Given the description of an element on the screen output the (x, y) to click on. 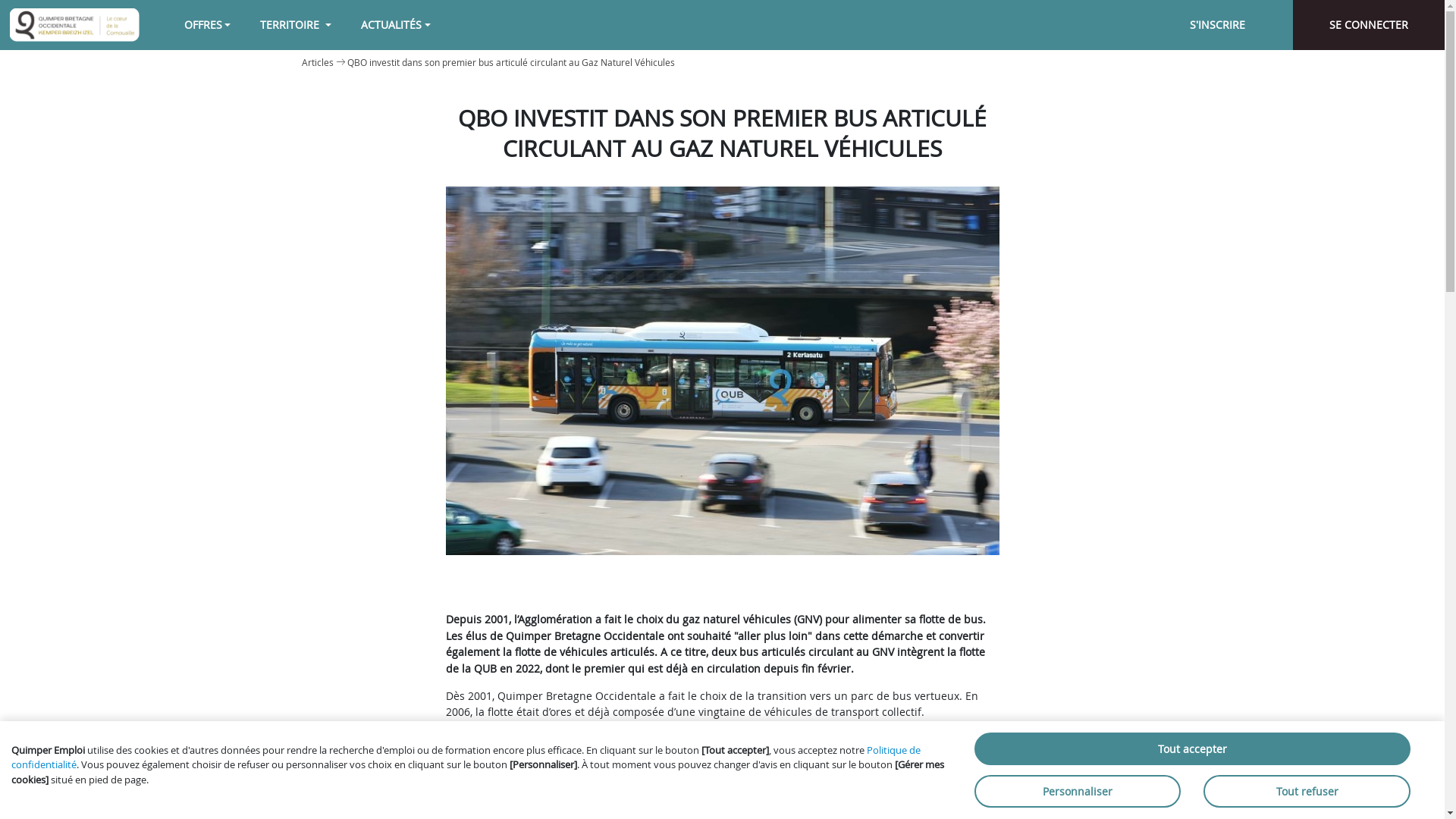
SE CONNECTER Element type: text (1368, 25)
Quimper Emploi Element type: hover (74, 24)
Tout accepter Element type: text (1192, 748)
TERRITOIRE Element type: text (295, 24)
Articles Element type: text (317, 62)
Personnaliser Element type: text (1077, 791)
Tout refuser Element type: text (1306, 791)
S'INSCRIRE Element type: text (1216, 25)
OFFRES Element type: text (207, 24)
